Given the description of an element on the screen output the (x, y) to click on. 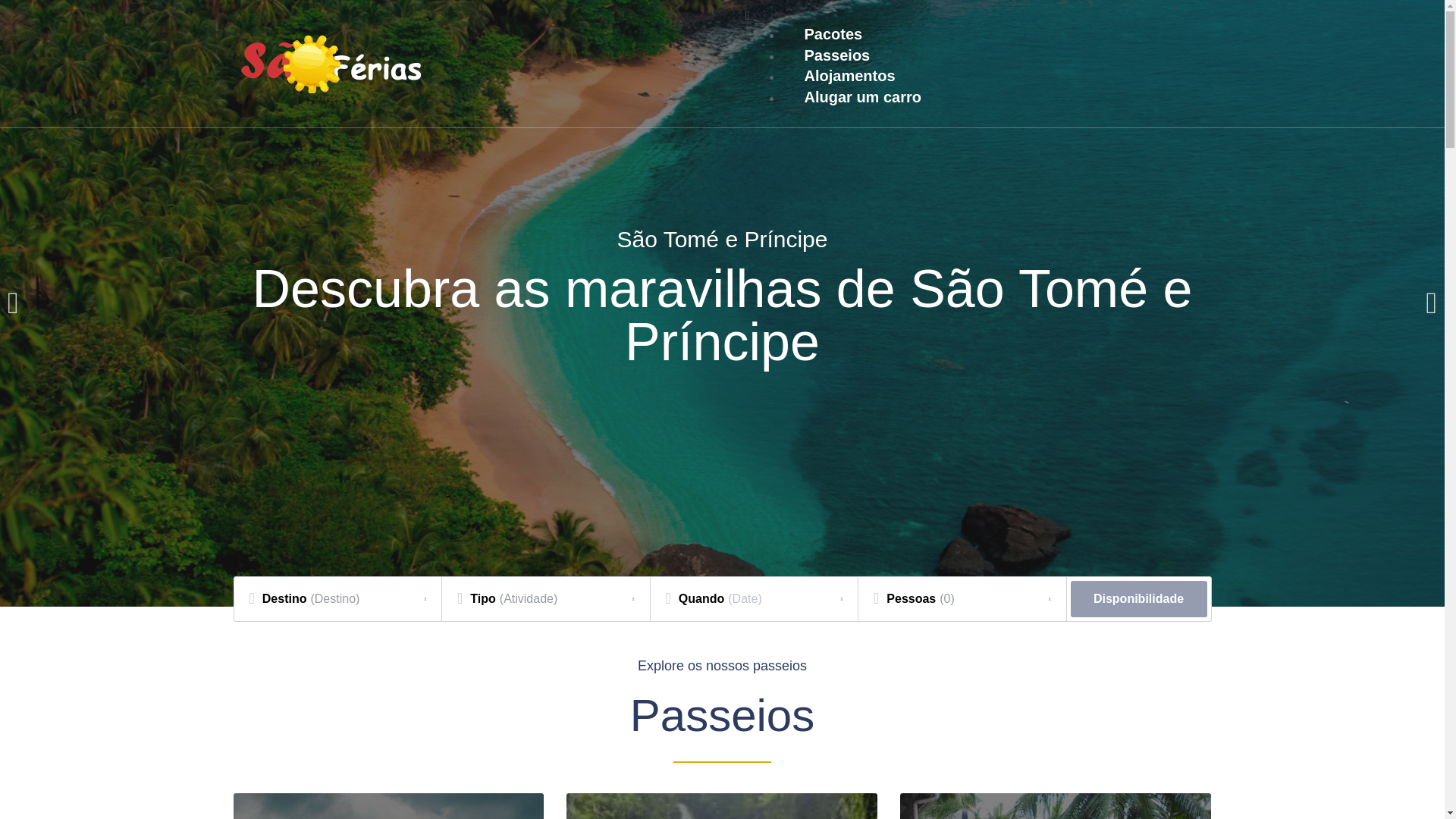
Alugar um carro (861, 96)
Alojamentos (848, 75)
Pacotes (832, 33)
Disponibilidade (1138, 598)
Passeios (836, 55)
